Given the description of an element on the screen output the (x, y) to click on. 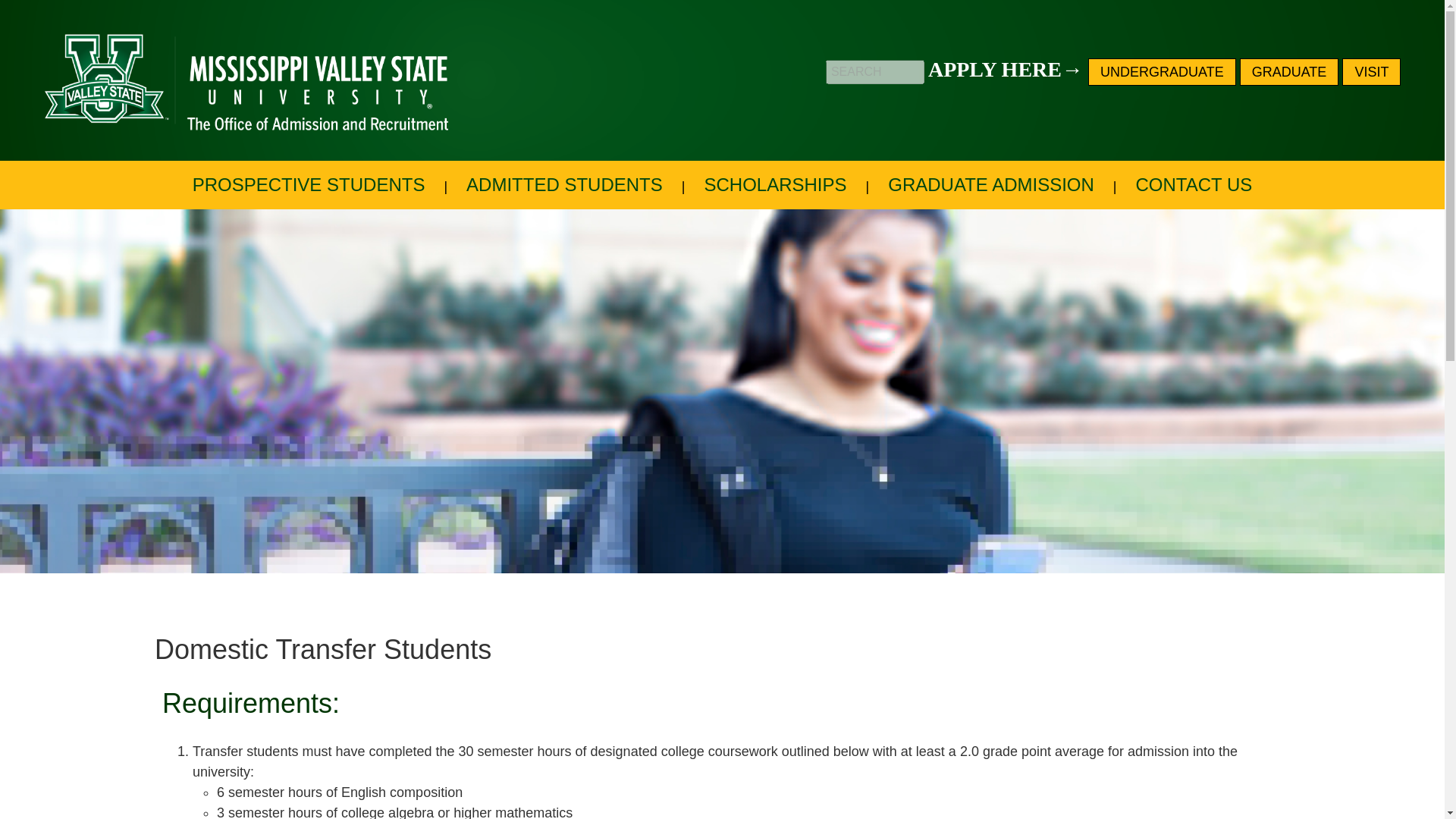
Search (49, 11)
PROSPECTIVE STUDENTS (309, 184)
ADMITTED STUDENTS (564, 184)
VISIT (1371, 71)
GRADUATE ADMISSION (990, 184)
GRADUATE (1289, 71)
Home (254, 80)
Enter the terms you wish to search for. (874, 71)
UNDERGRADUATE (1161, 71)
SCHOLARSHIPS (774, 184)
